Given the description of an element on the screen output the (x, y) to click on. 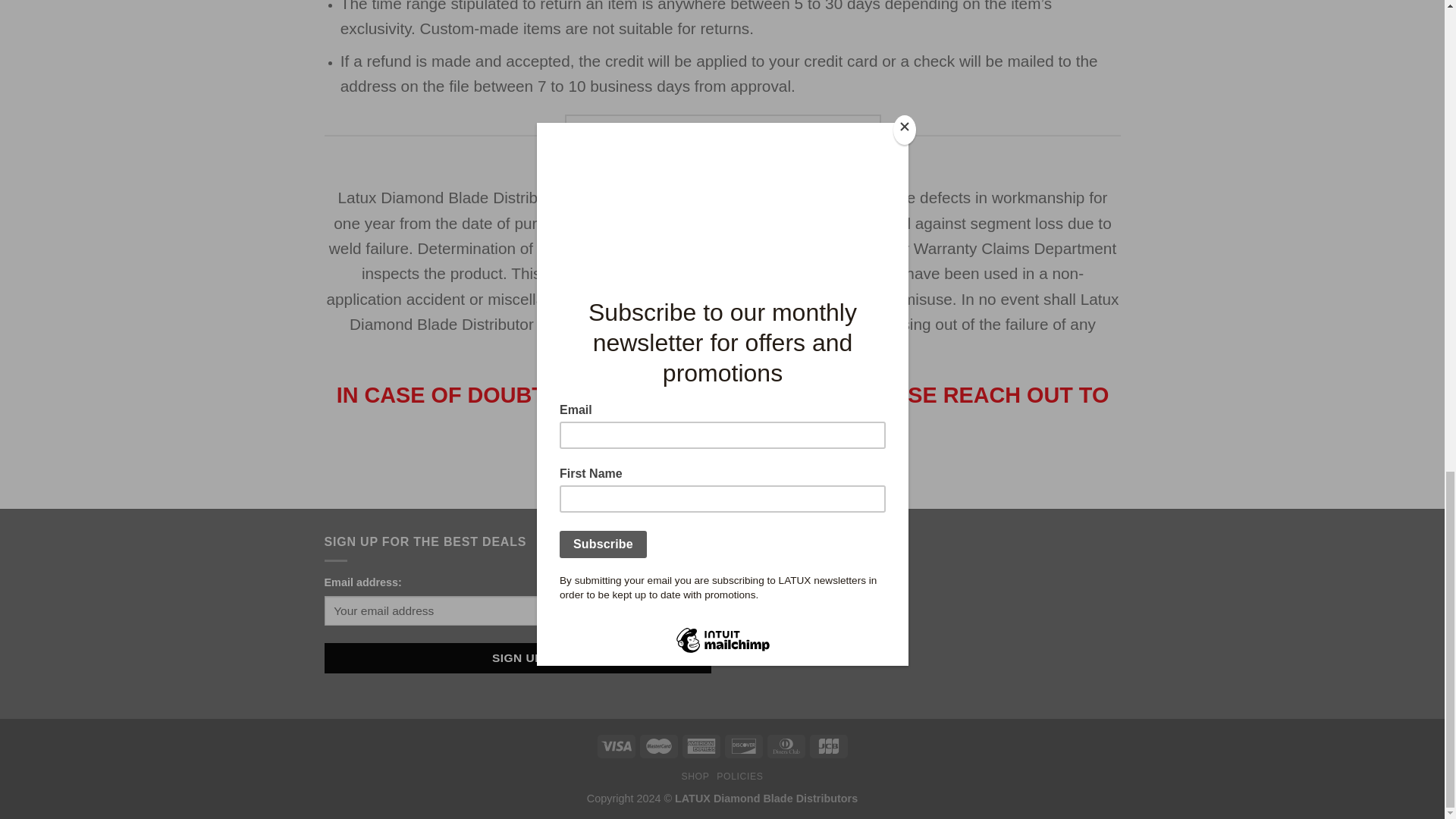
Sign up (517, 657)
